Given the description of an element on the screen output the (x, y) to click on. 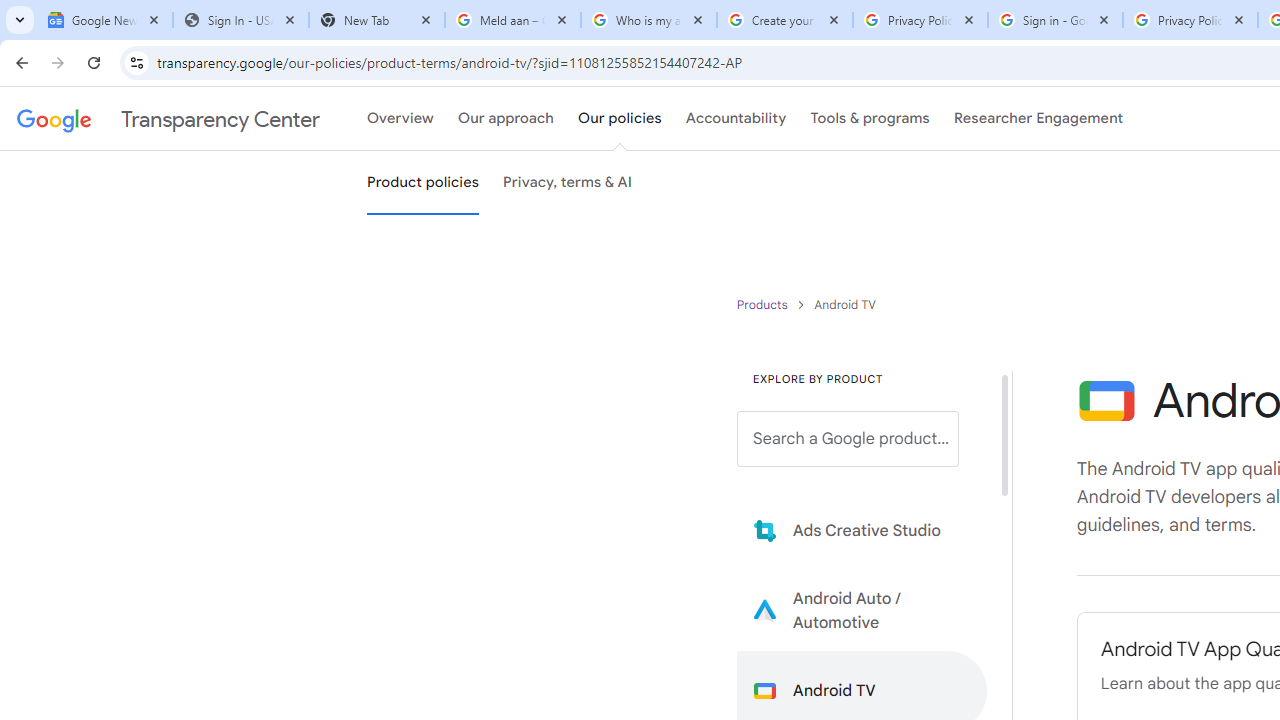
Sign in - Google Accounts (1055, 20)
Privacy, terms & AI (568, 183)
Learn more about Android Auto (862, 610)
Learn more about Ads Creative Studio (862, 530)
Search a Google product from below list. (847, 439)
Transparency Center (167, 119)
